Given the description of an element on the screen output the (x, y) to click on. 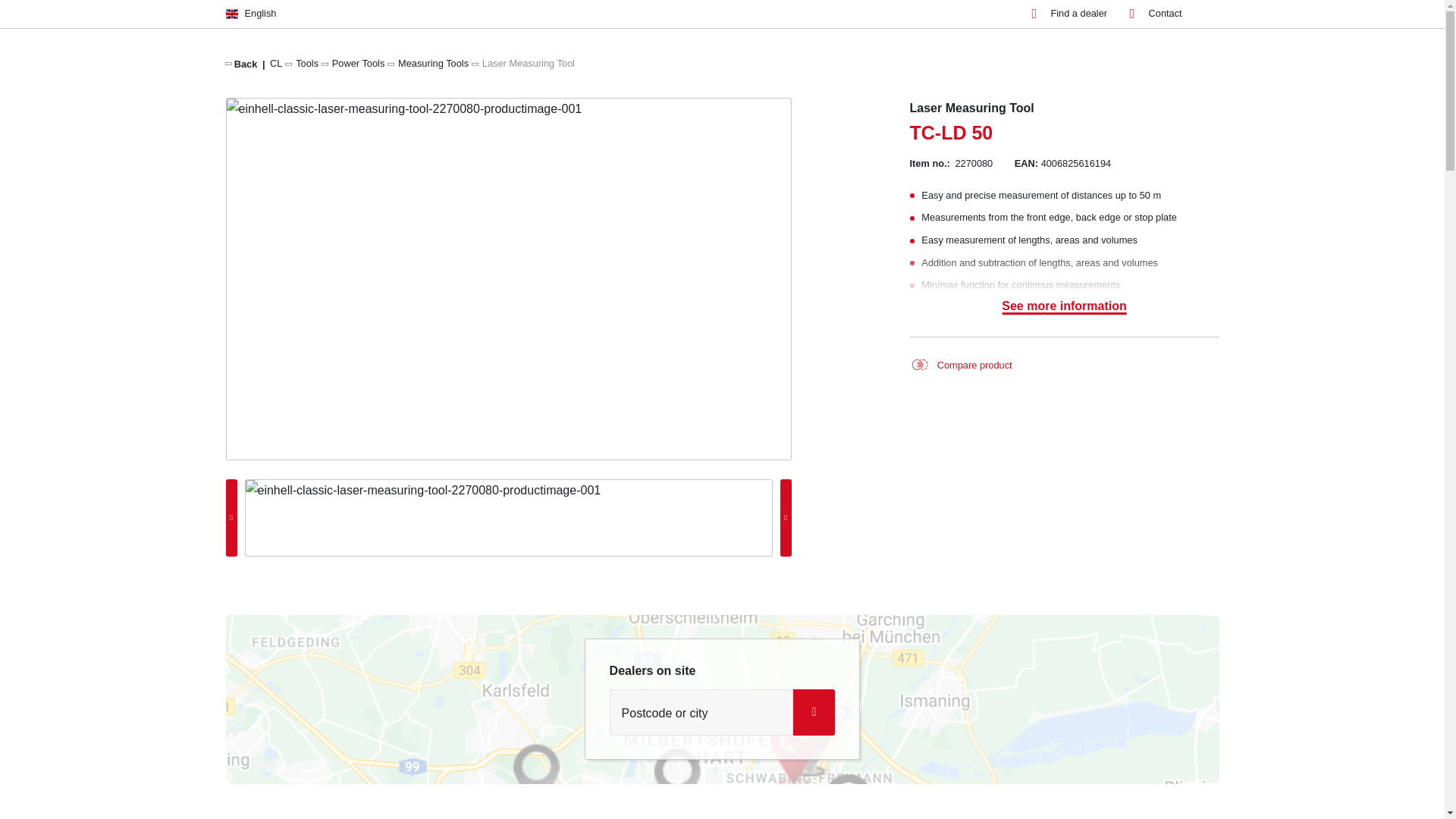
Measuring Tools (432, 62)
Power Tools (357, 62)
CL (275, 62)
Contact (1155, 13)
Tools (306, 62)
Find a dealer (1068, 13)
